Given the description of an element on the screen output the (x, y) to click on. 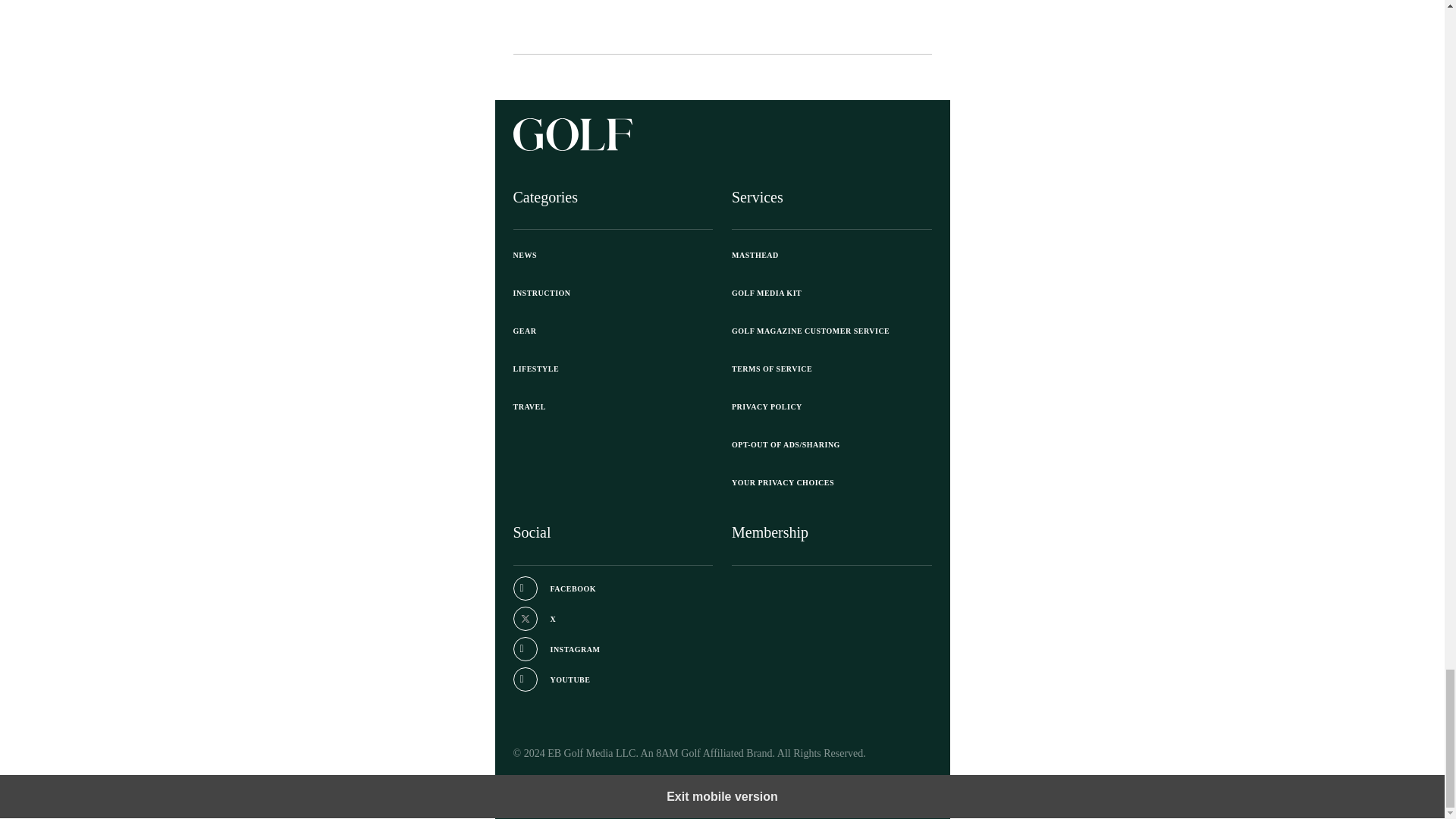
MASTHEAD (831, 255)
YOUTUBE (550, 679)
FACEBOOK (553, 588)
X (534, 619)
TRAVEL (612, 406)
GOLF MEDIA KIT (831, 293)
NEWS (612, 255)
YOUR PRIVACY CHOICES (831, 482)
GEAR (612, 331)
TERMS OF SERVICE (831, 369)
GOLF MAGAZINE CUSTOMER SERVICE (831, 331)
INSTAGRAM (555, 649)
LIFESTYLE (612, 369)
PRIVACY POLICY (831, 406)
INSTRUCTION (612, 293)
